Given the description of an element on the screen output the (x, y) to click on. 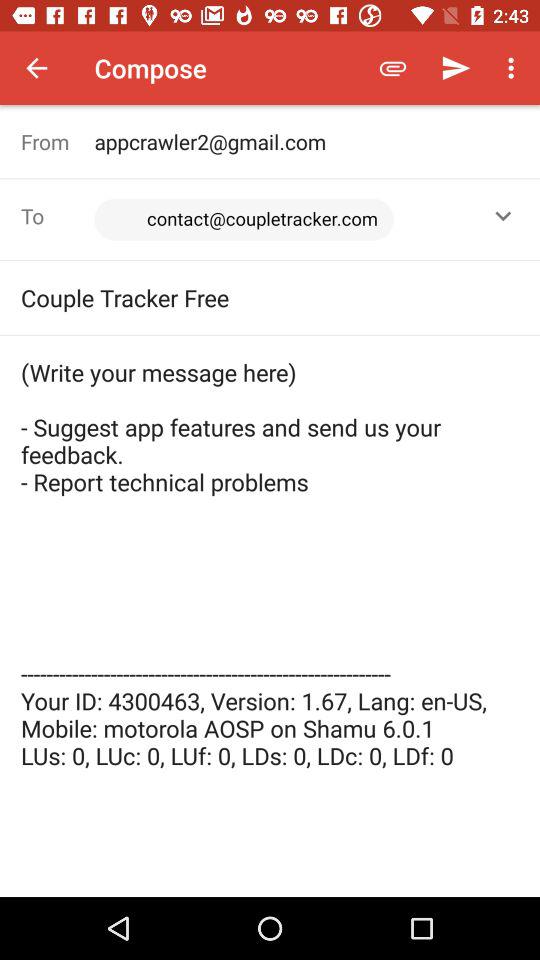
turn on item next to the <contact@coupletracker.com>, (57, 215)
